Given the description of an element on the screen output the (x, y) to click on. 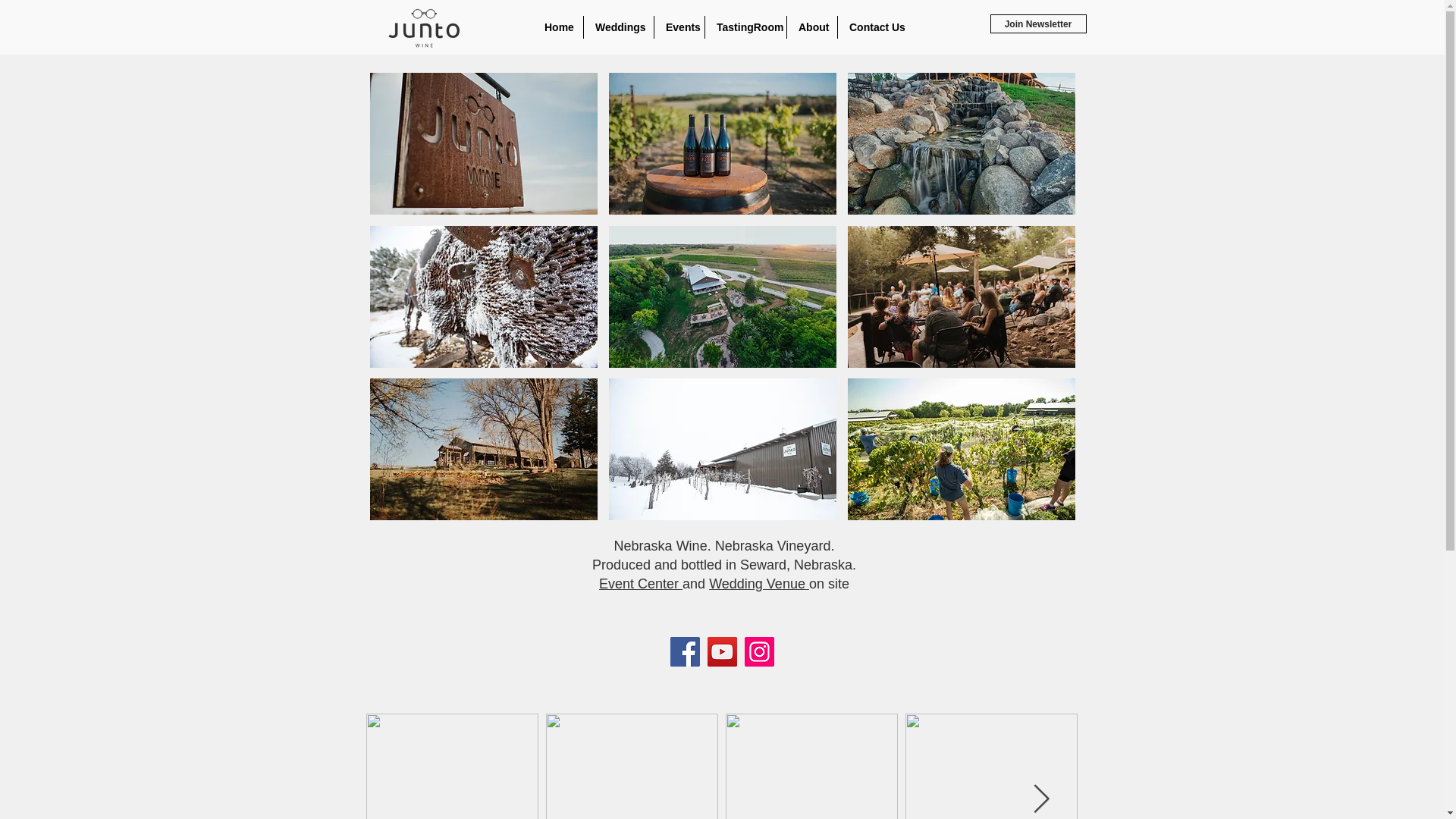
Wedding Venue (759, 583)
TastingRoom (745, 26)
Events (678, 26)
Contact Us (874, 26)
Home (557, 26)
About (812, 26)
Join Newsletter (1038, 23)
Weddings (618, 26)
Instagram Feed (721, 766)
Event Center (640, 583)
